Given the description of an element on the screen output the (x, y) to click on. 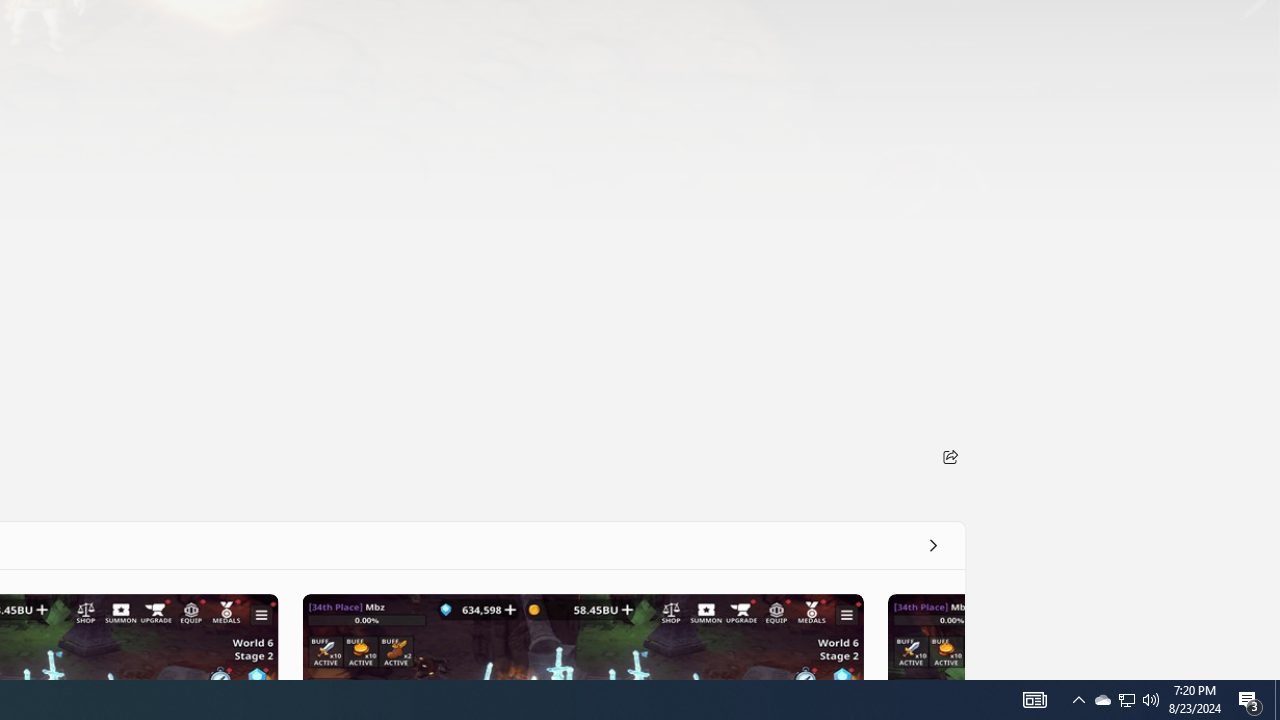
Screenshot 4 (925, 636)
See all (932, 544)
Screenshot 3 (582, 636)
Share (950, 456)
